Given the description of an element on the screen output the (x, y) to click on. 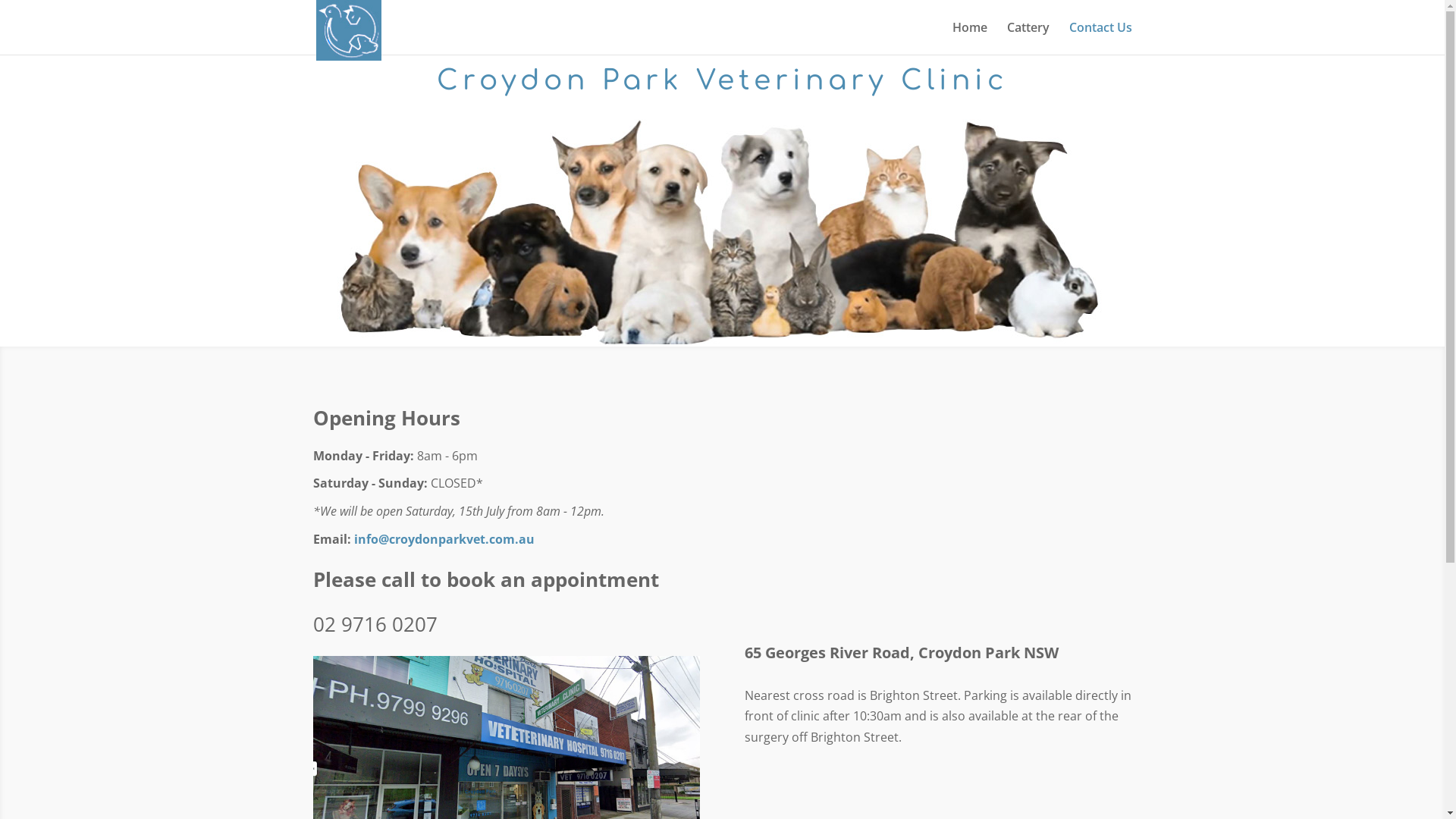
Home Element type: text (969, 37)
info@croydonparkvet.com.au Element type: text (443, 538)
Cattery Element type: text (1028, 37)
Contact Us Element type: text (1100, 37)
